Given the description of an element on the screen output the (x, y) to click on. 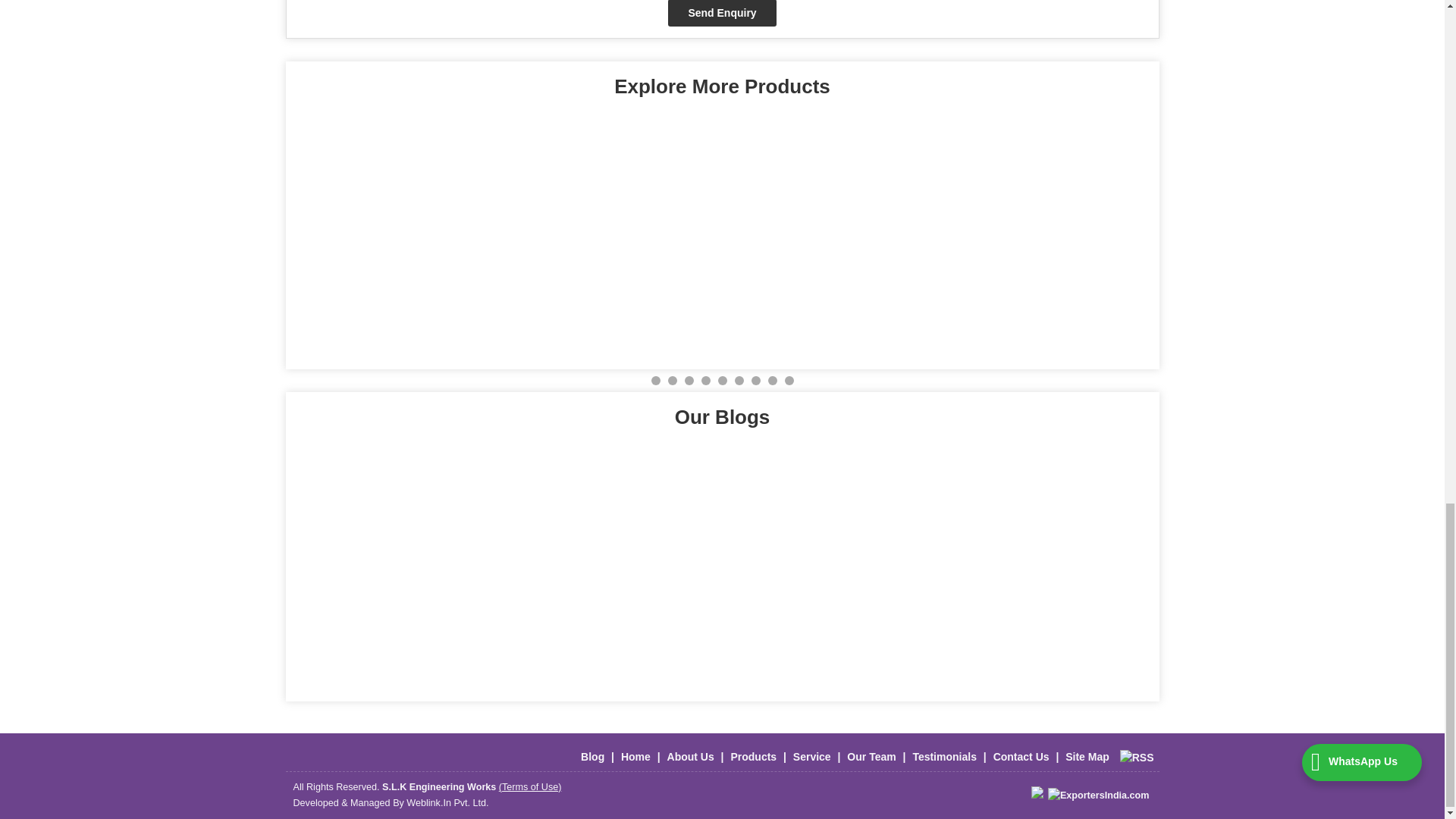
Send Enquiry (722, 13)
